Given the description of an element on the screen output the (x, y) to click on. 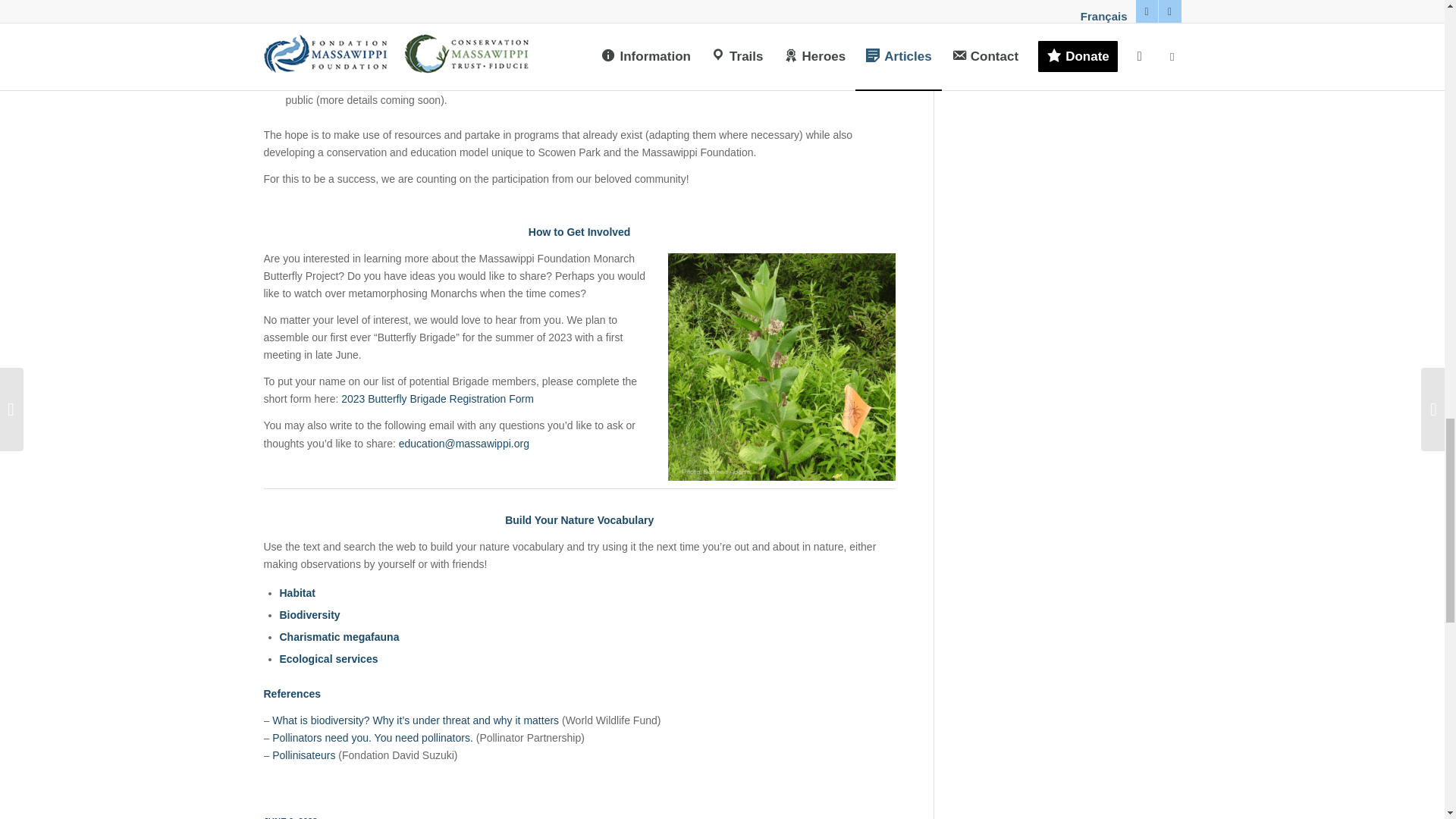
2023 Butterfly Brigade Registration Form (437, 398)
Pollinisateurs (303, 755)
Pollinators need you. You need pollinators. (372, 737)
